Given the description of an element on the screen output the (x, y) to click on. 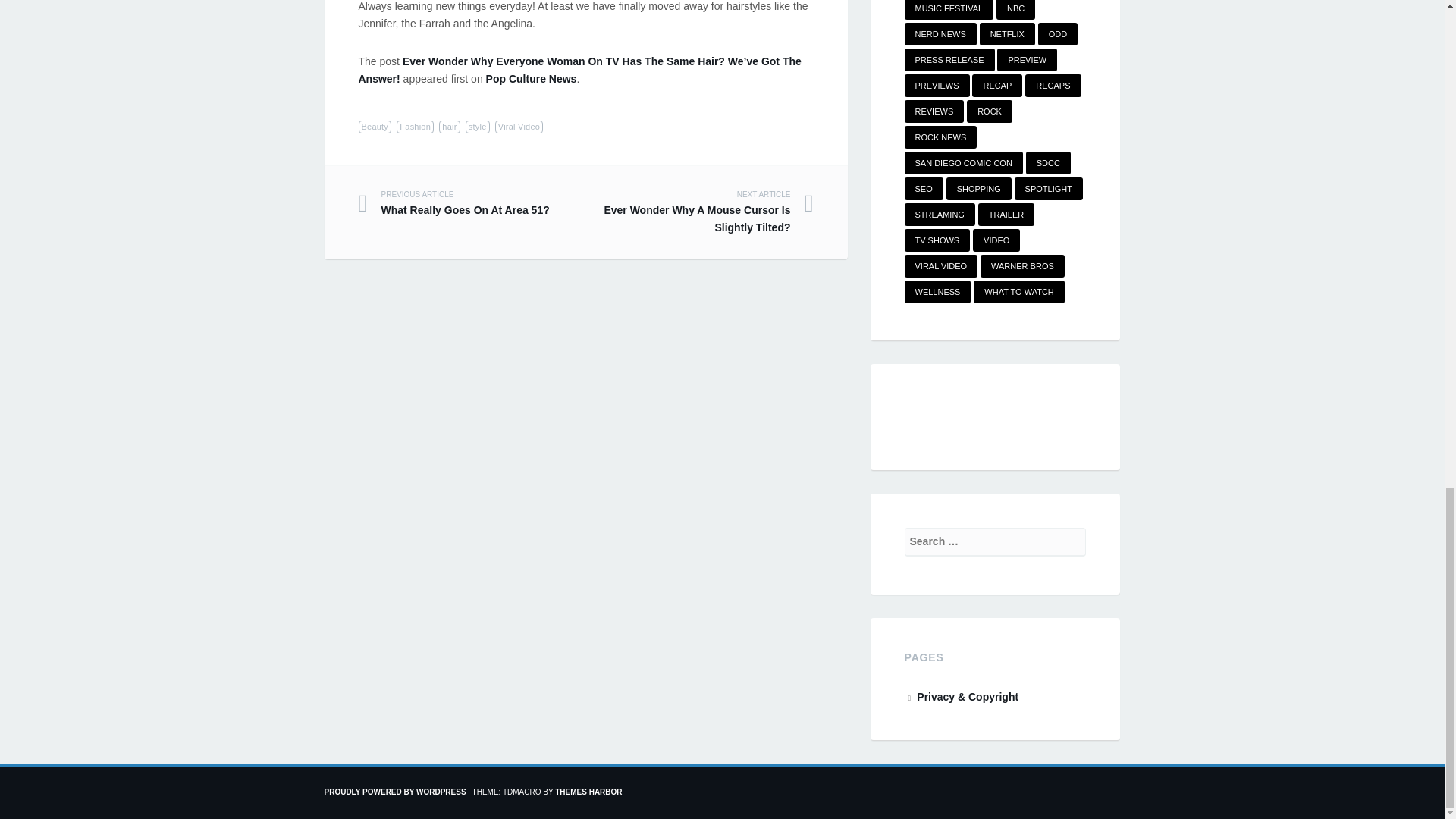
Viral Video (519, 126)
hair (449, 126)
style (477, 126)
Beauty (374, 126)
Pop Culture News (531, 78)
Fashion (414, 126)
